Given the description of an element on the screen output the (x, y) to click on. 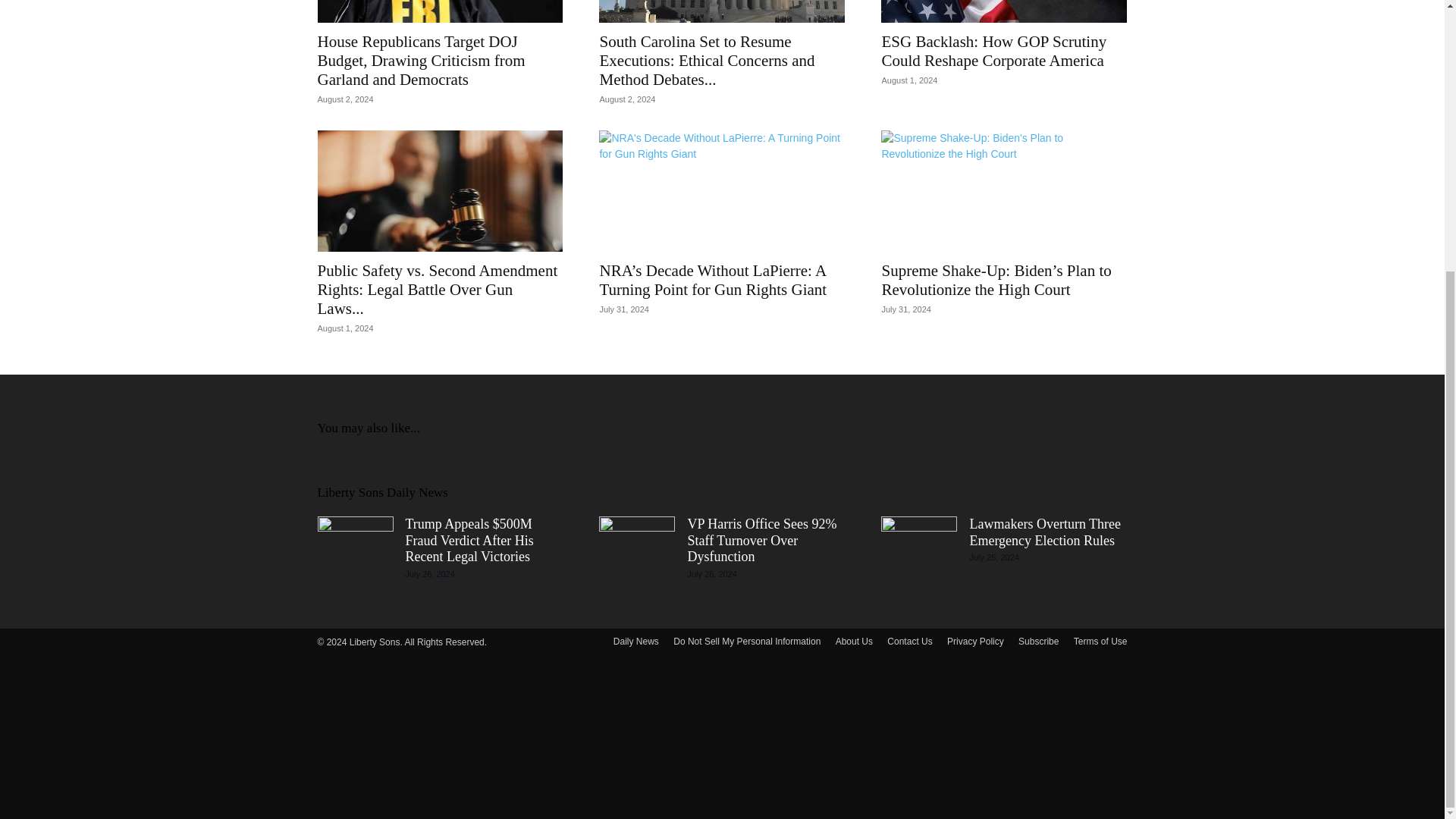
Contact Us (908, 641)
Do Not Sell My Personal Information (746, 641)
Liberty Sons Daily News (381, 492)
Privacy Policy (975, 641)
Daily News (635, 641)
Lawmakers Overturn Three Emergency Election Rules (1045, 531)
